Given the description of an element on the screen output the (x, y) to click on. 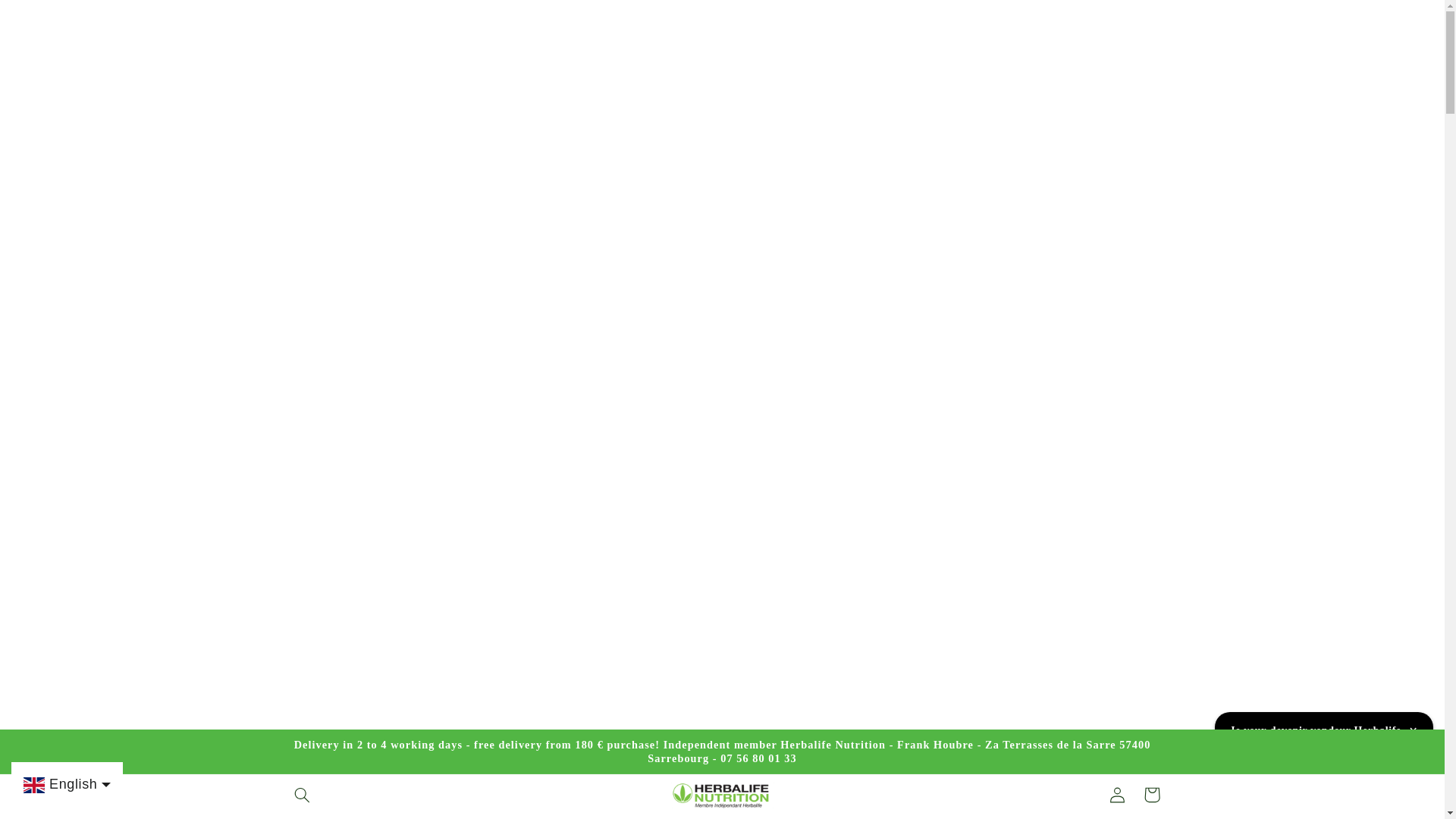
Skip to content (48, 18)
